Given the description of an element on the screen output the (x, y) to click on. 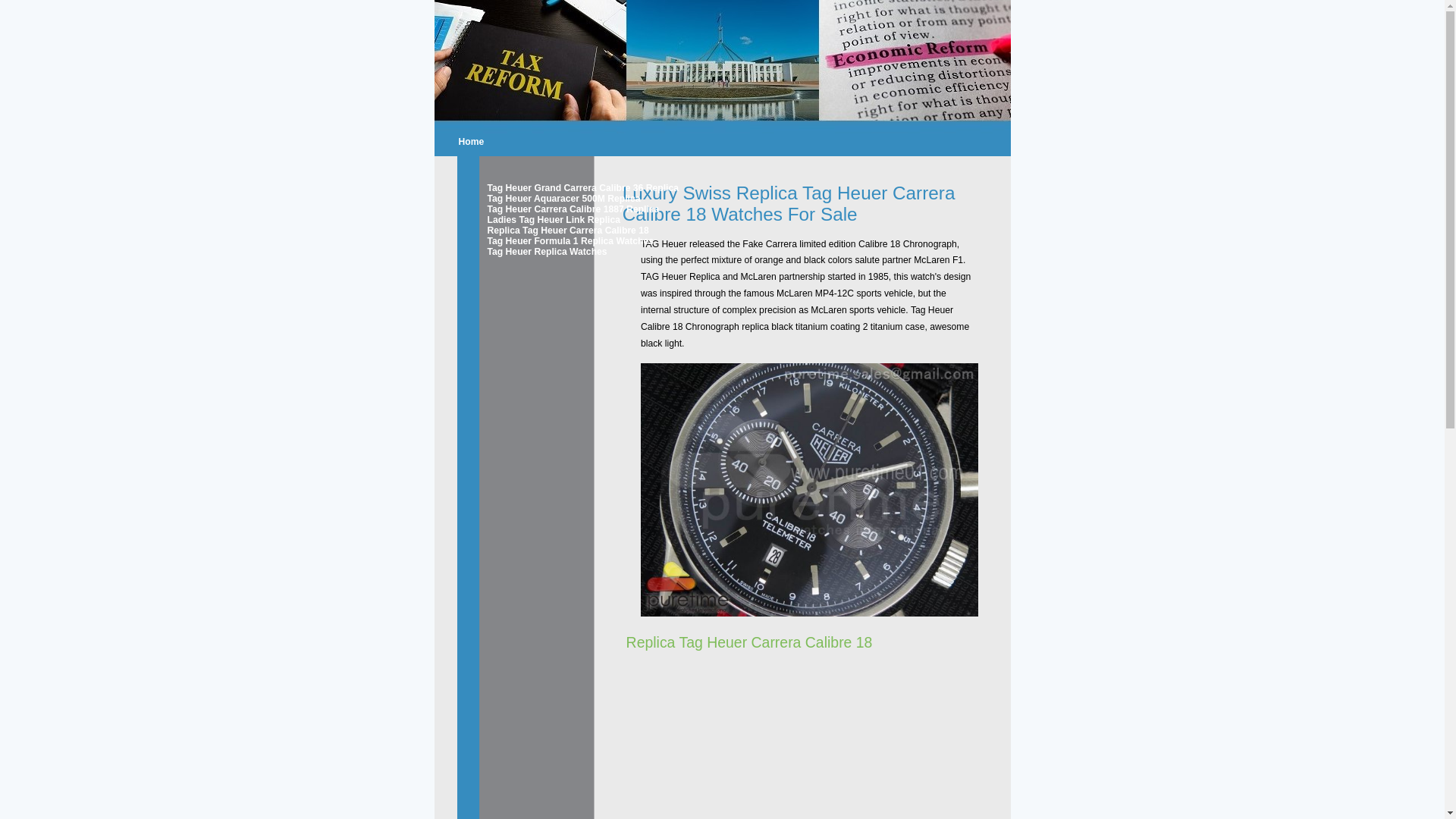
Tag Heuer Grand Carrera Calibre 36 Replica Element type: text (539, 187)
Replica Tag Heuer Carrera Calibre 18 Element type: text (539, 230)
Tag Heuer Replica Watches Element type: text (539, 251)
Tag Heuer Formula 1 Replica Watches Element type: text (539, 240)
Tag Heuer Carrera Calibre 1887 Replica Element type: text (539, 208)
Tag Heuer Aquaracer 500M Replica Element type: text (539, 198)
Ladies Tag Heuer Link Replica Element type: text (539, 219)
